Given the description of an element on the screen output the (x, y) to click on. 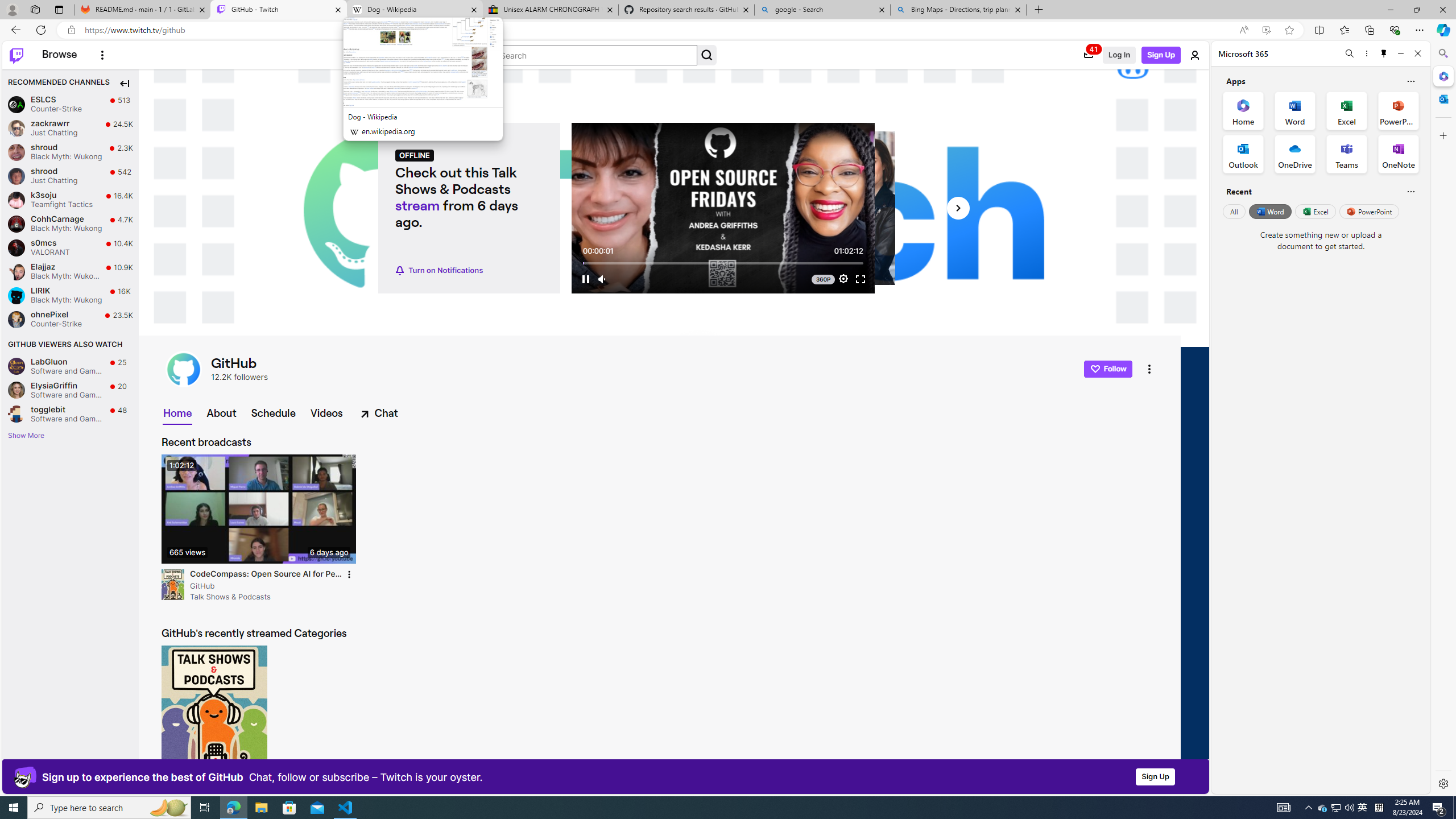
ESLCS (15, 104)
k3soju (15, 199)
Pause (space/k) (585, 278)
Elajjaz (15, 271)
CohhCarnage CohhCarnage Black Myth: Wukong Live 4.7K viewers (70, 223)
Enhance video (1266, 29)
Excel (1315, 210)
All (1233, 210)
